Given the description of an element on the screen output the (x, y) to click on. 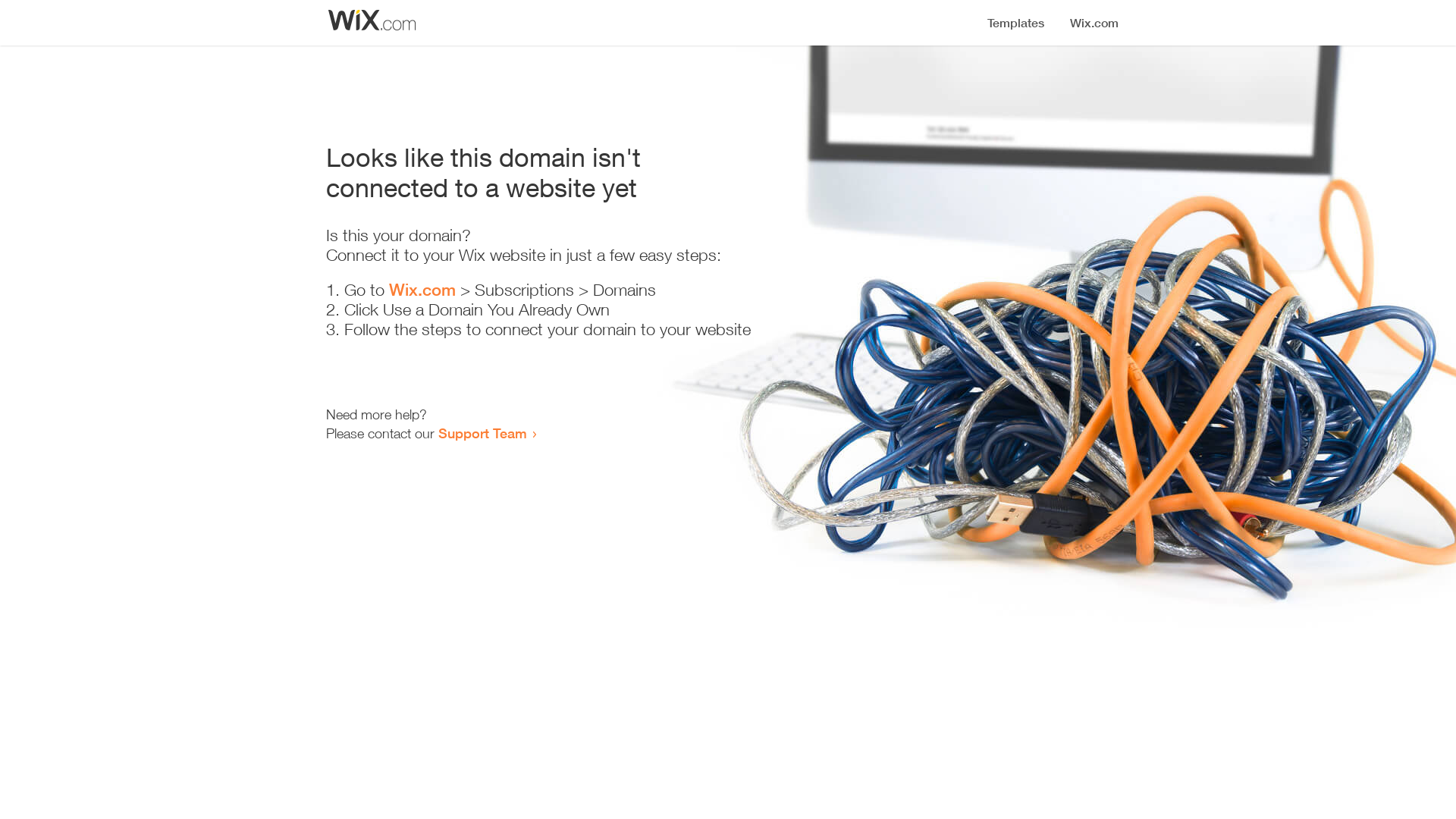
Support Team Element type: text (482, 432)
Wix.com Element type: text (422, 289)
